Given the description of an element on the screen output the (x, y) to click on. 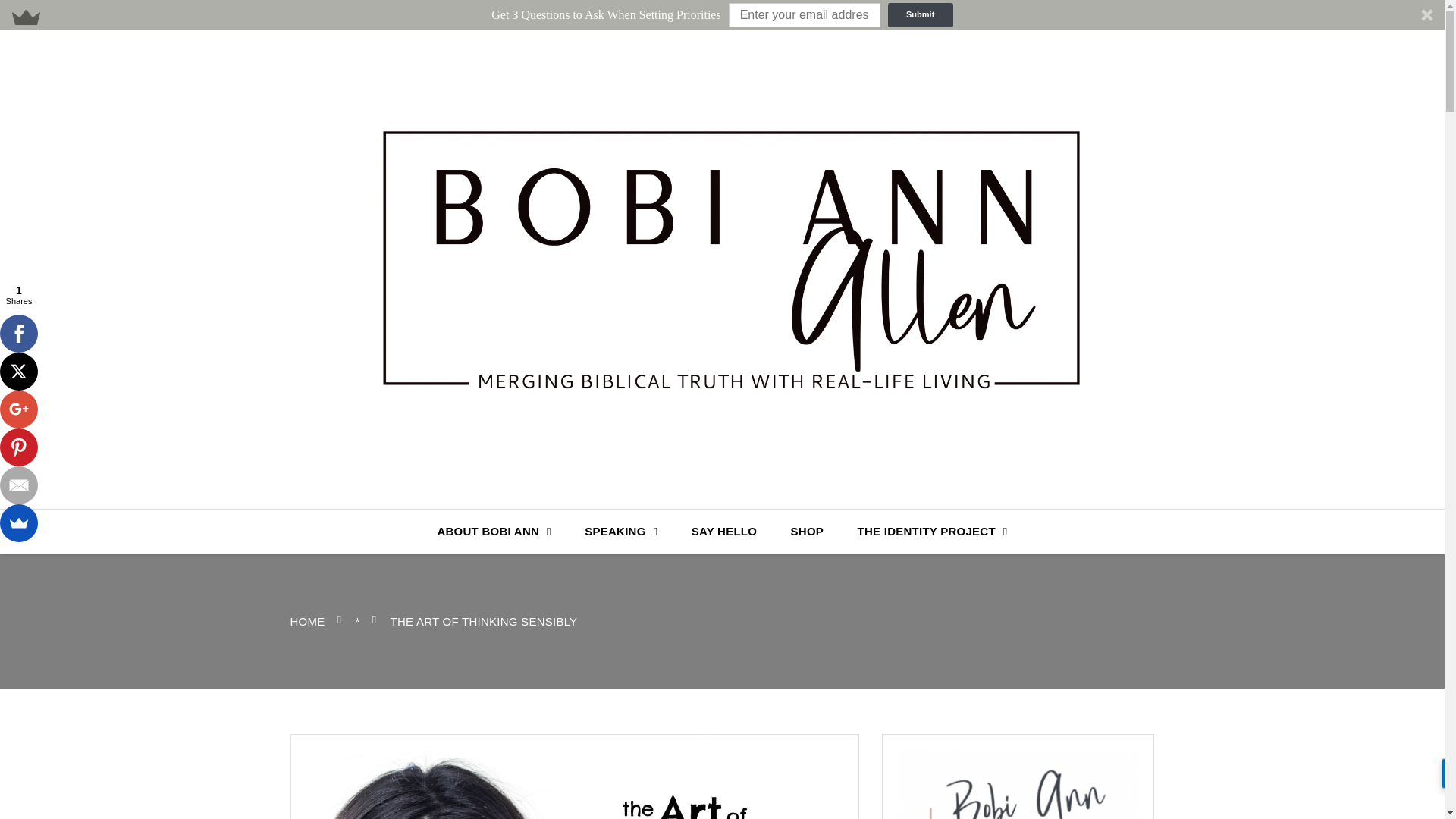
SPEAKING (620, 531)
SHOP (808, 530)
SAY HELLO (724, 530)
HOME (306, 621)
Email (18, 485)
X (18, 371)
Facebook (18, 333)
Submit (920, 15)
THE IDENTITY PROJECT (933, 531)
Pinterest (18, 447)
ABOUT BOBI ANN (494, 531)
